Given the description of an element on the screen output the (x, y) to click on. 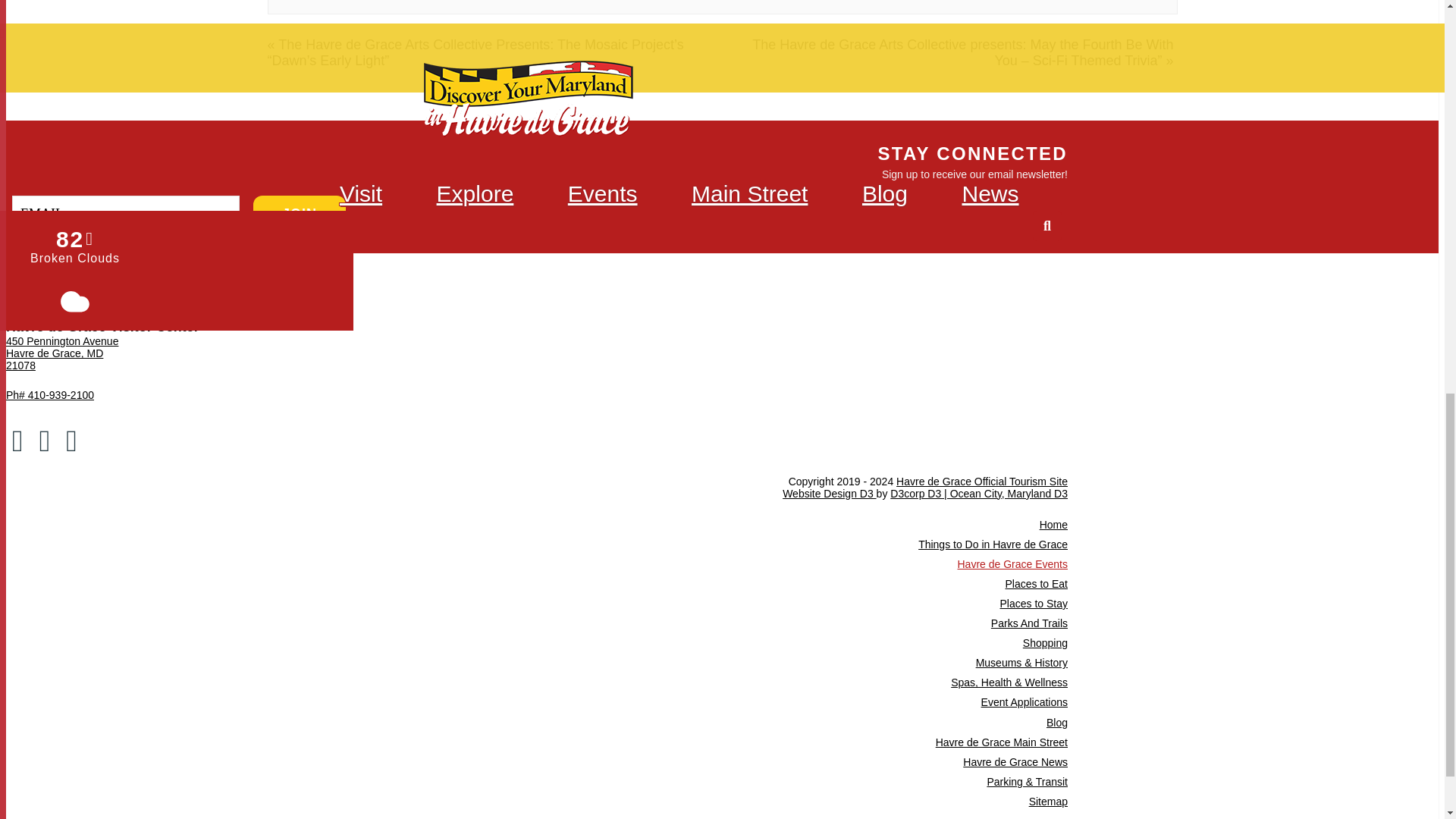
JOIN (299, 214)
